Given the description of an element on the screen output the (x, y) to click on. 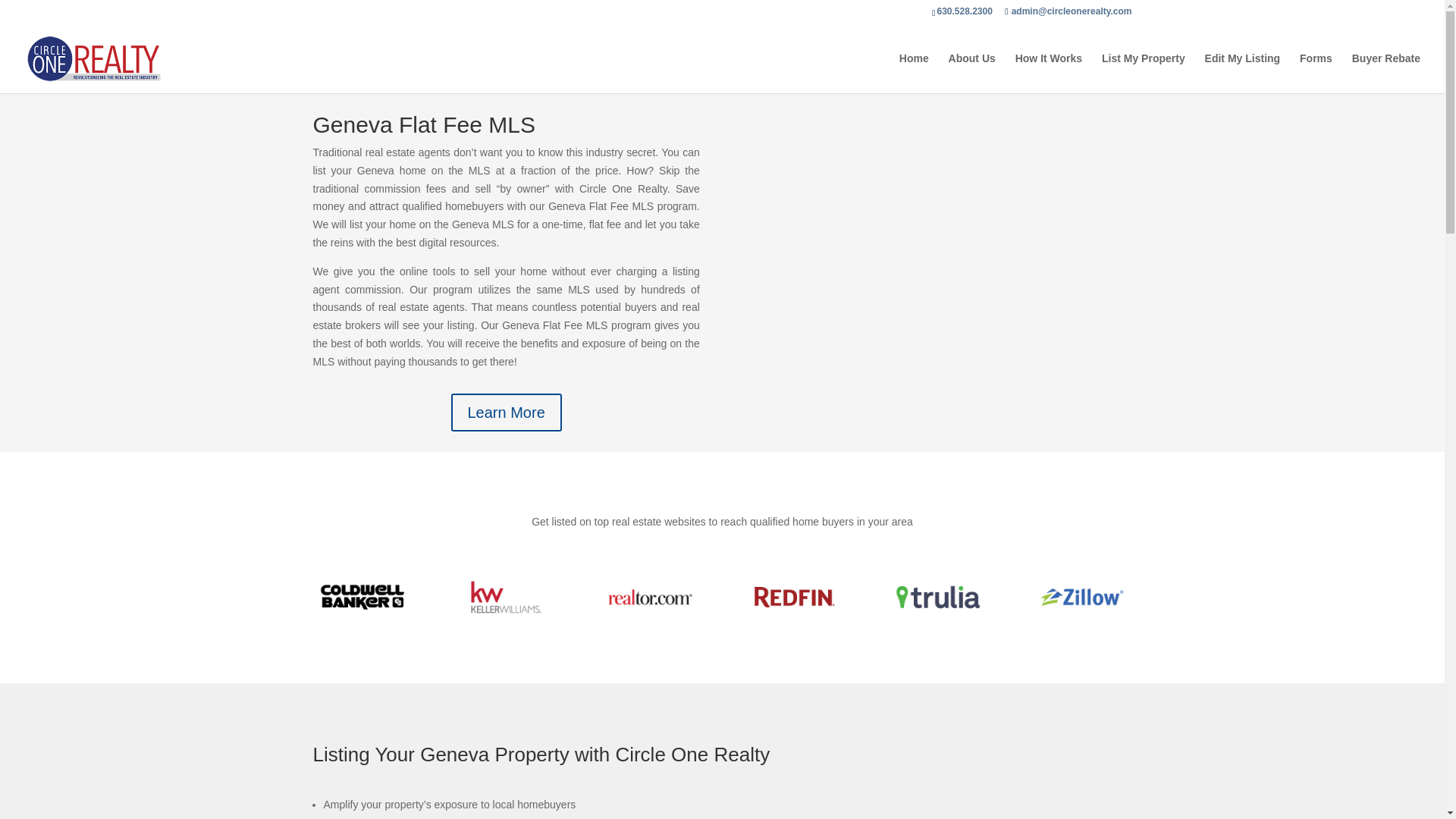
Edit My Listing (1243, 73)
Home (913, 73)
Illinois Flat Fee MLS Listing for Illinois For Sale By Owner (937, 262)
List My Property (1143, 73)
Buyer Rebate (1386, 73)
About Us (972, 73)
Forms (1316, 73)
Learn More (504, 412)
How It Works (1047, 73)
